Given the description of an element on the screen output the (x, y) to click on. 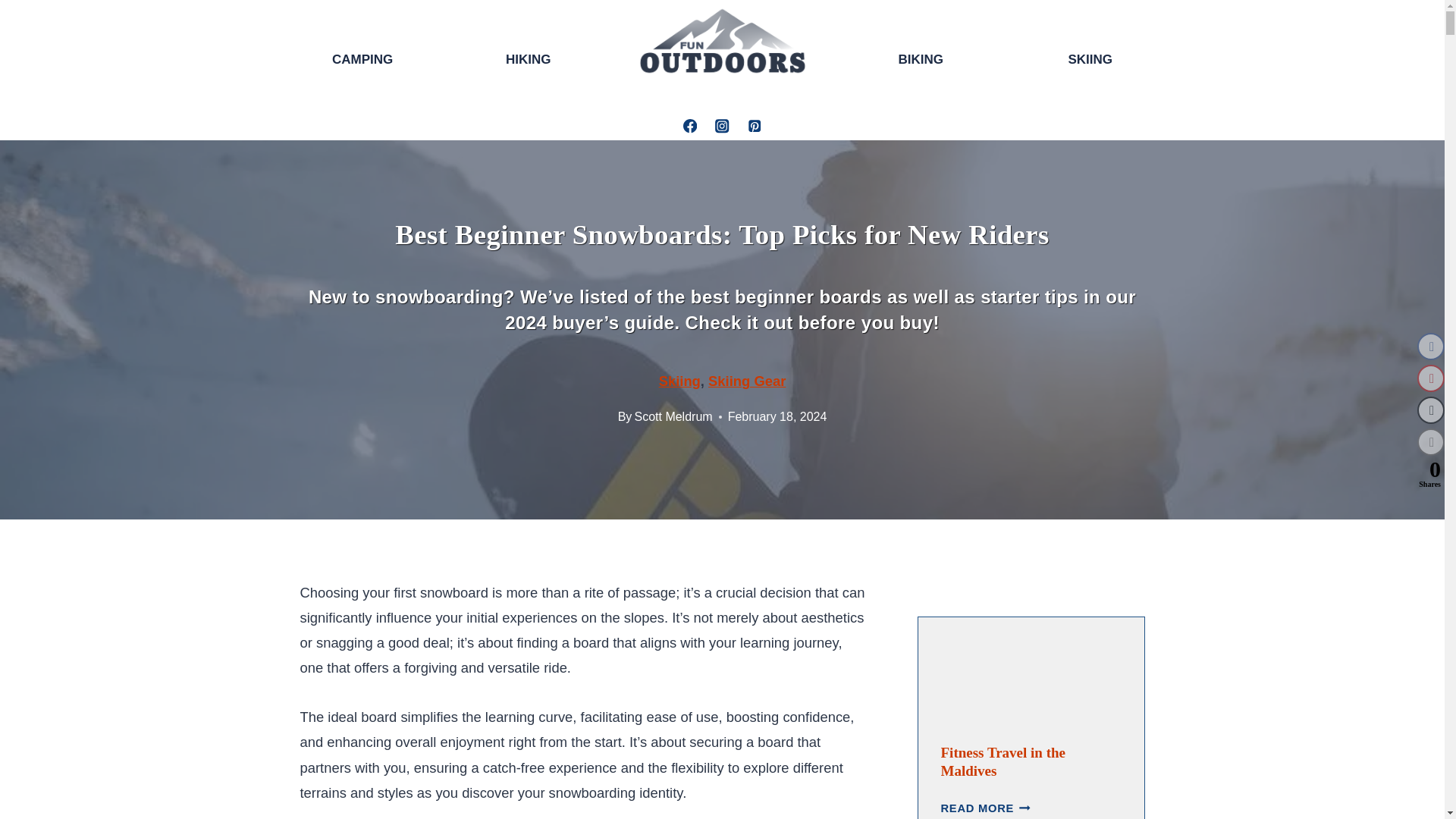
HIKING (528, 59)
Skiing Gear (746, 381)
SKIING (1089, 60)
CAMPING (362, 59)
BIKING (920, 60)
Skiing (679, 381)
